Given the description of an element on the screen output the (x, y) to click on. 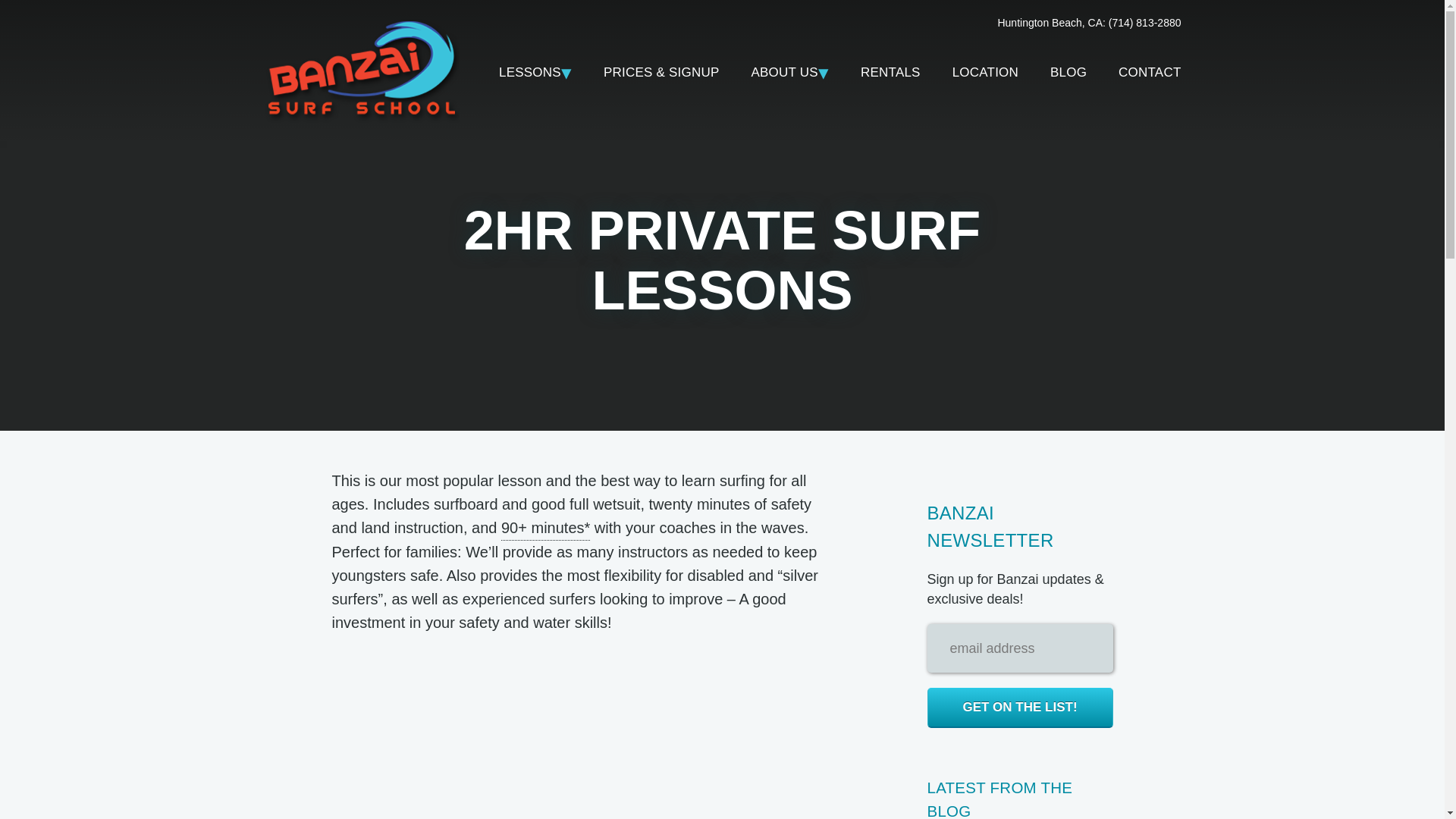
Get on the list! (1019, 707)
LOCATION (984, 70)
LESSONS (535, 70)
CONTACT (1141, 70)
RENTALS (890, 70)
Get on the list! (1019, 707)
ABOUT US (790, 70)
BLOG (1067, 70)
